Given the description of an element on the screen output the (x, y) to click on. 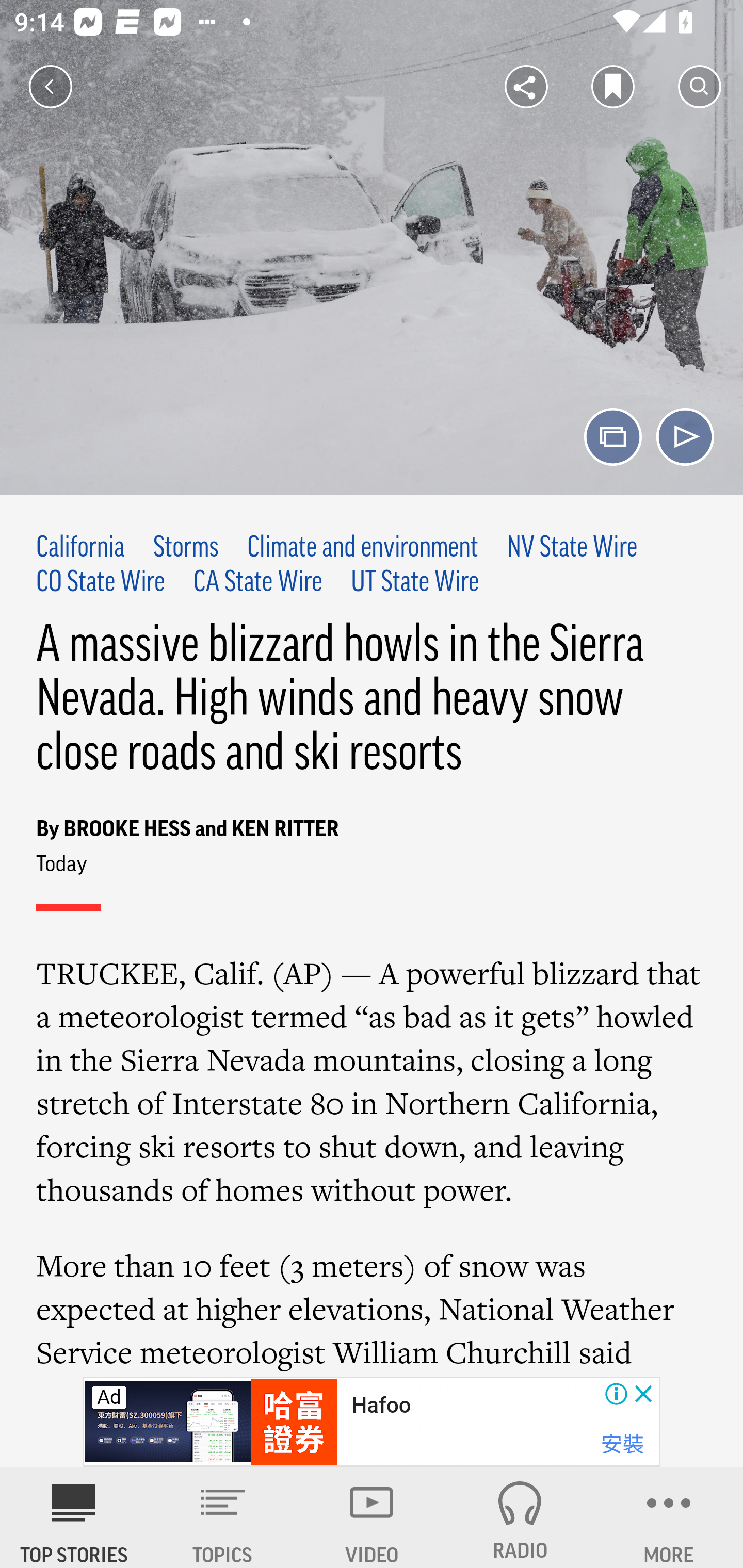
California (81, 548)
Storms (185, 548)
Climate and environment (361, 548)
NV State Wire (571, 548)
CO State Wire (101, 582)
CA State Wire (258, 582)
UT State Wire (415, 582)
Hafoo (381, 1405)
安裝 (621, 1444)
AP News TOP STORIES (74, 1517)
TOPICS (222, 1517)
VIDEO (371, 1517)
RADIO (519, 1517)
MORE (668, 1517)
